Given the description of an element on the screen output the (x, y) to click on. 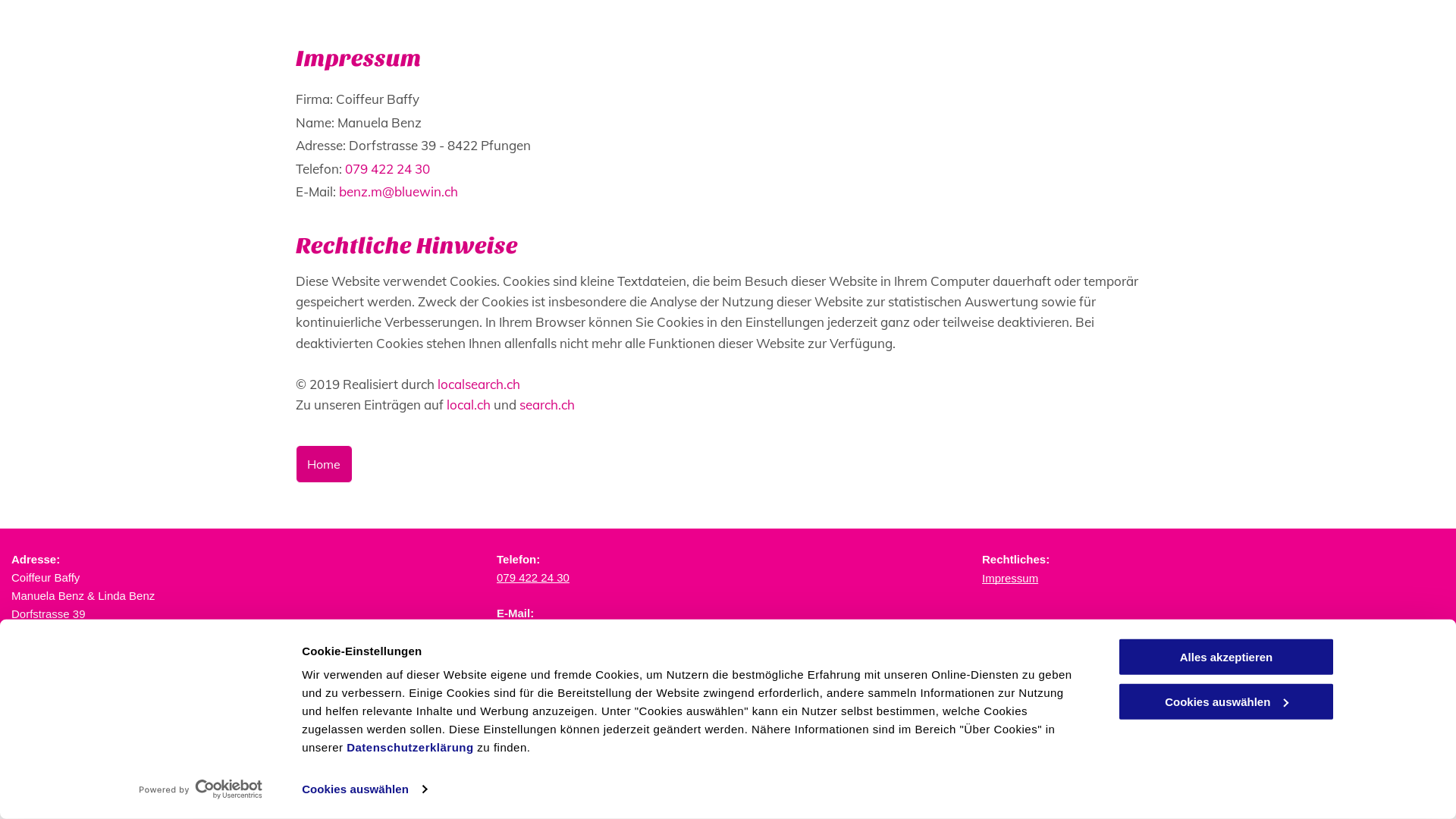
Home Element type: text (323, 464)
localsearch.ch Element type: text (478, 384)
Alles akzeptieren Element type: text (1225, 656)
local.ch Element type: text (468, 404)
benz.m@bluewin.ch Element type: text (398, 191)
079 422 24 30 Element type: text (532, 577)
Impressum Element type: text (1010, 577)
079 422 24 30 Element type: text (387, 168)
benz.m@bluewin.ch Element type: text (549, 629)
search.ch Element type: text (546, 404)
